Given the description of an element on the screen output the (x, y) to click on. 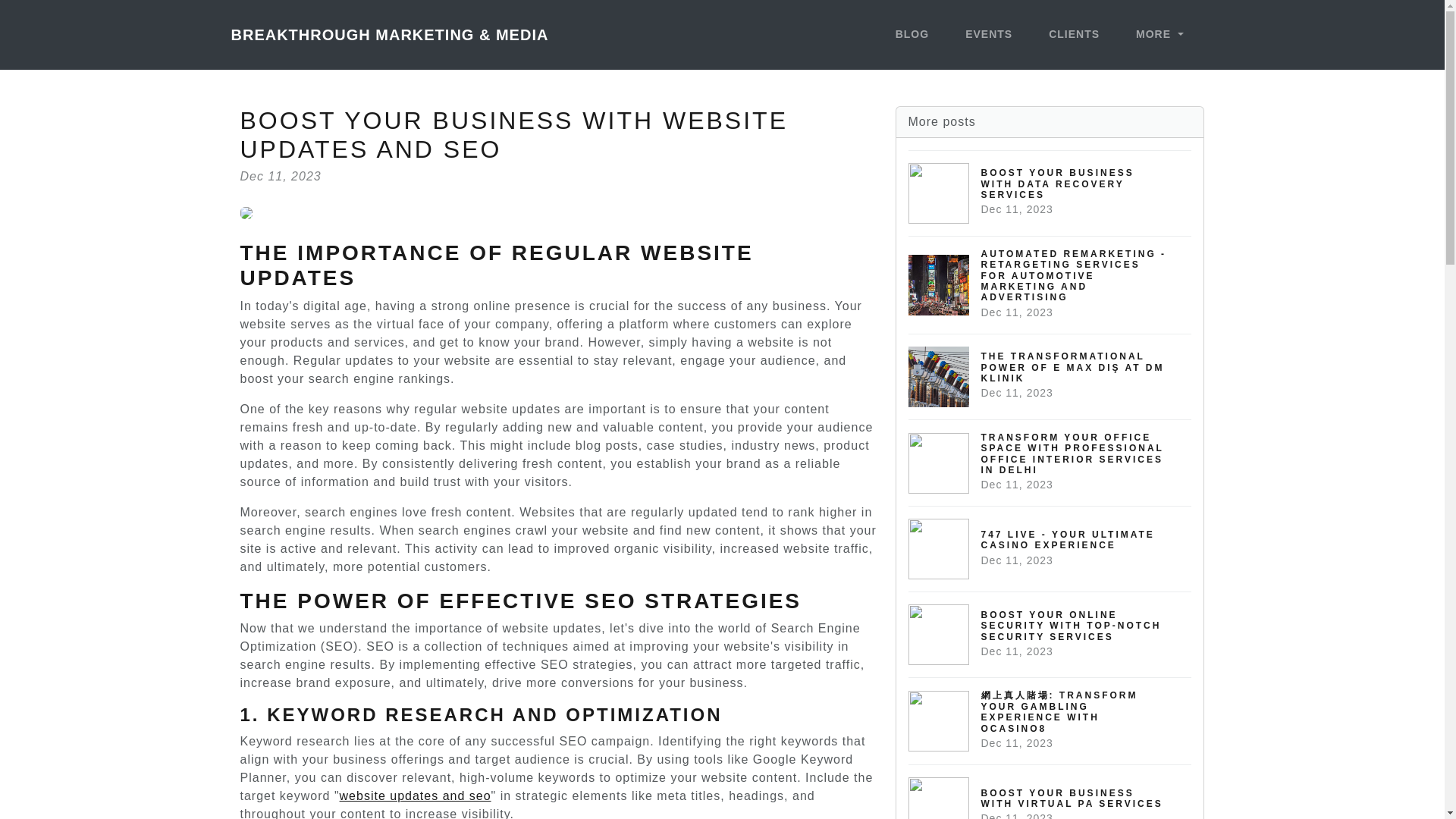
CLIENTS (1073, 34)
website updates and seo (1050, 192)
BLOG (415, 795)
MORE (911, 34)
EVENTS (1050, 791)
